Given the description of an element on the screen output the (x, y) to click on. 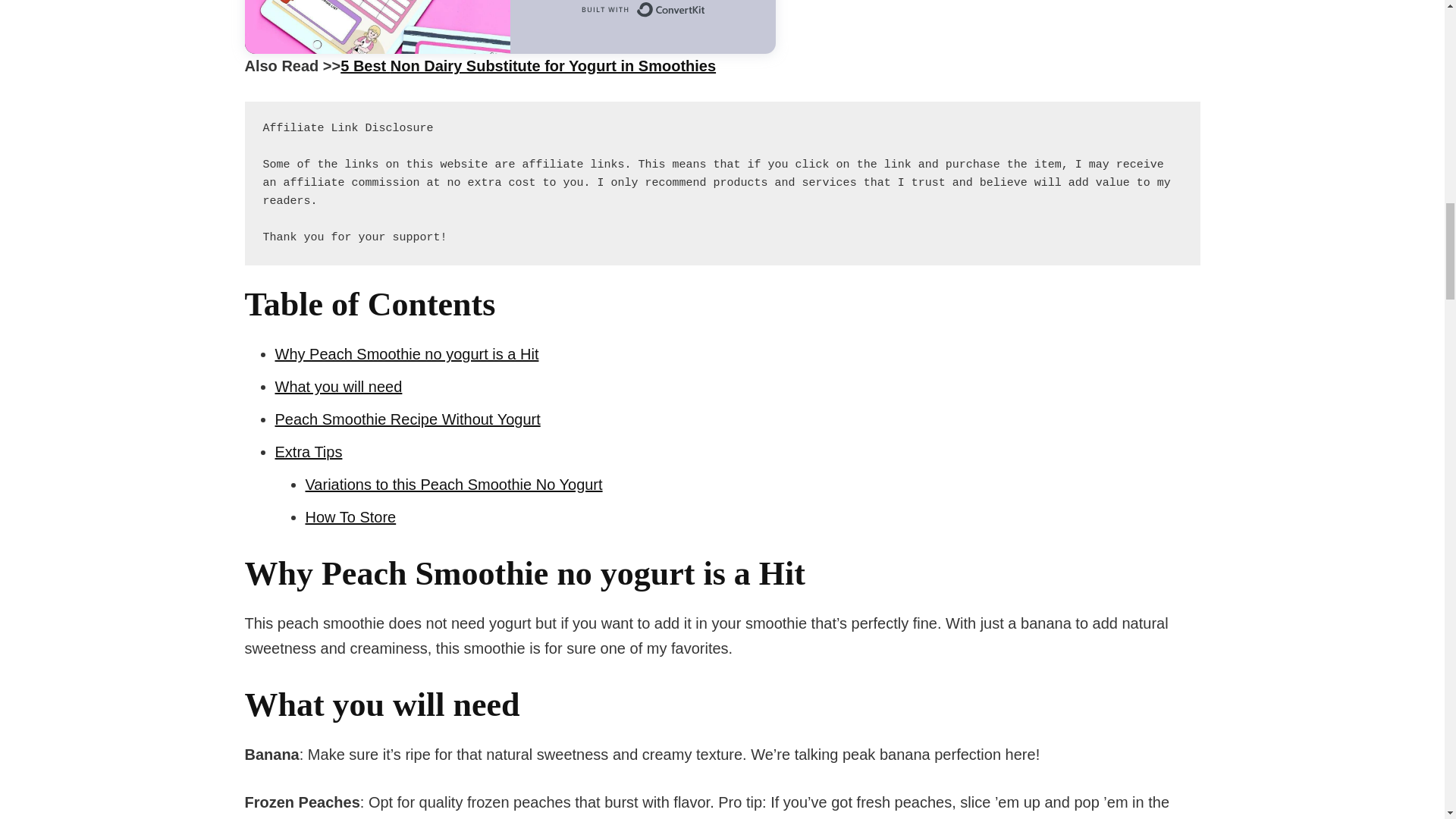
Built with ConvertKit (641, 11)
